Given the description of an element on the screen output the (x, y) to click on. 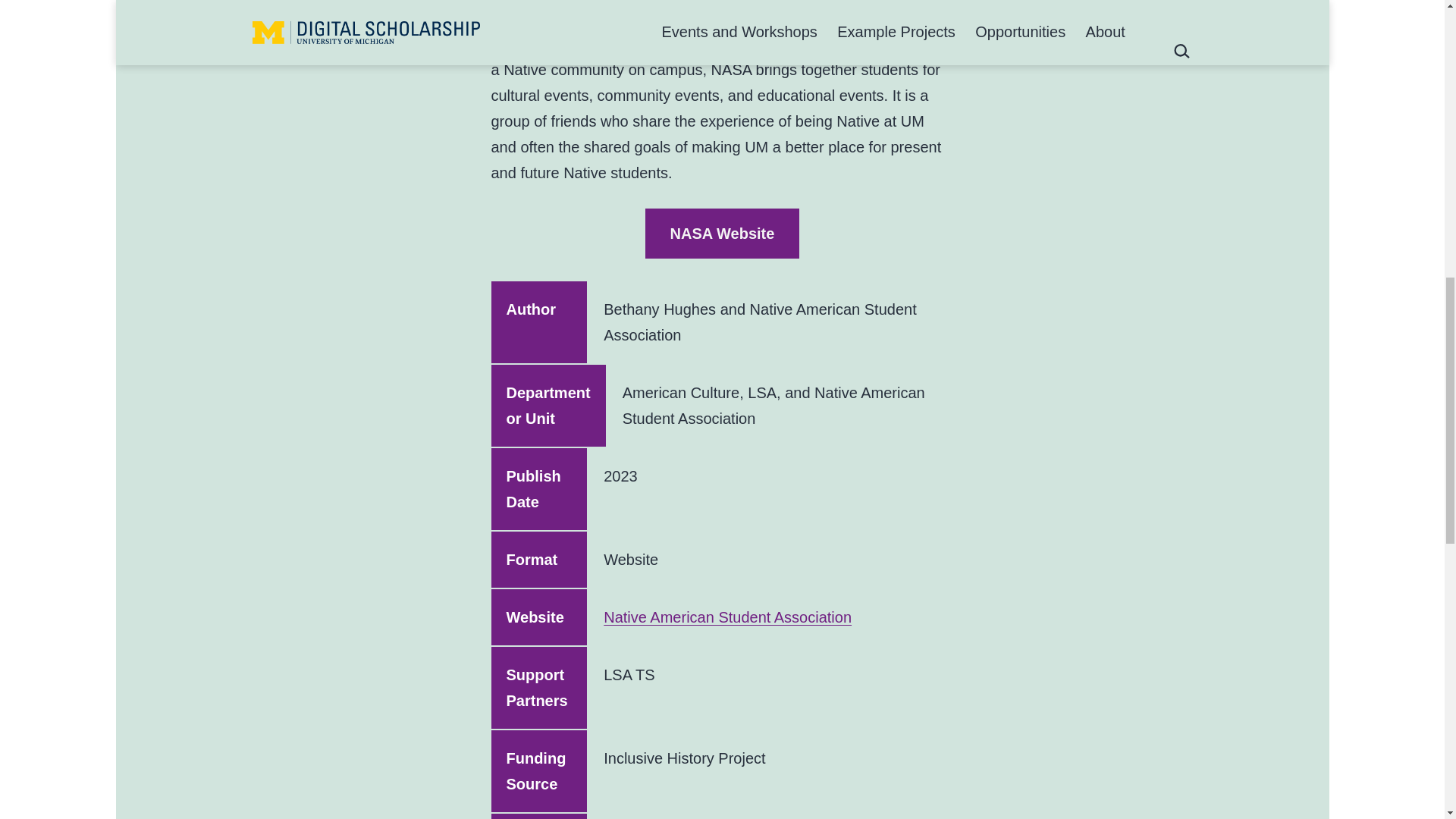
Native American Student Association (727, 617)
NASA Website (722, 233)
